Given the description of an element on the screen output the (x, y) to click on. 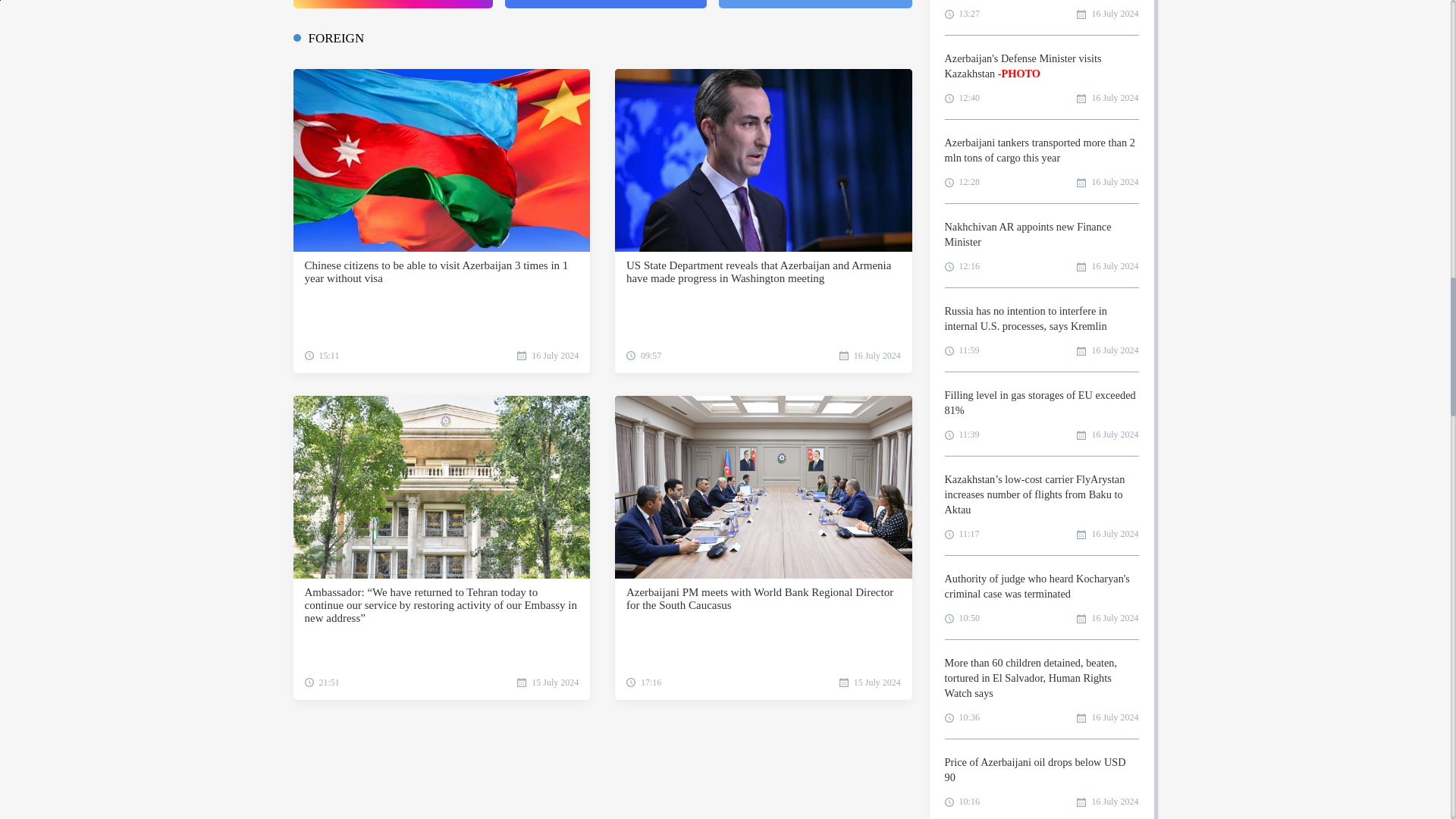
Follow us on Facebook (605, 4)
Follow us on Twitter (815, 4)
Follow us on Instagram (392, 4)
